Given the description of an element on the screen output the (x, y) to click on. 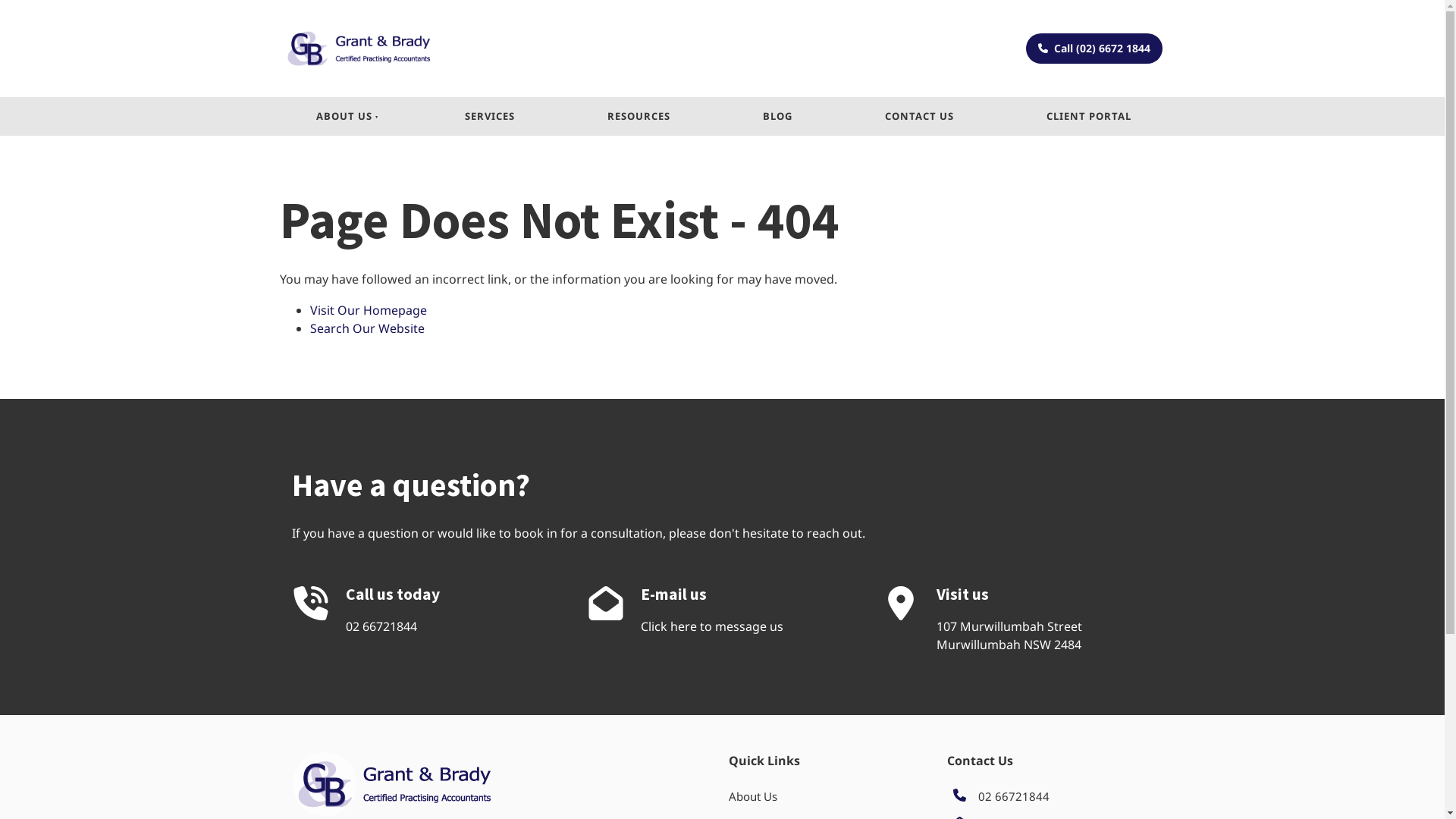
BLOG Element type: text (777, 116)
Click here to message us Element type: text (711, 626)
About Us Element type: text (752, 795)
02 66721844 Element type: text (381, 626)
CLIENT PORTAL Element type: text (1088, 116)
SERVICES Element type: text (489, 116)
Visit Our Homepage Element type: text (367, 309)
02 66721844 Element type: text (1013, 796)
CONTACT US Element type: text (919, 116)
RESOURCES Element type: text (638, 116)
CALL (02) 6672 1844 Element type: text (1093, 48)
ABOUT US Element type: text (343, 116)
Search Our Website Element type: text (366, 328)
